Given the description of an element on the screen output the (x, y) to click on. 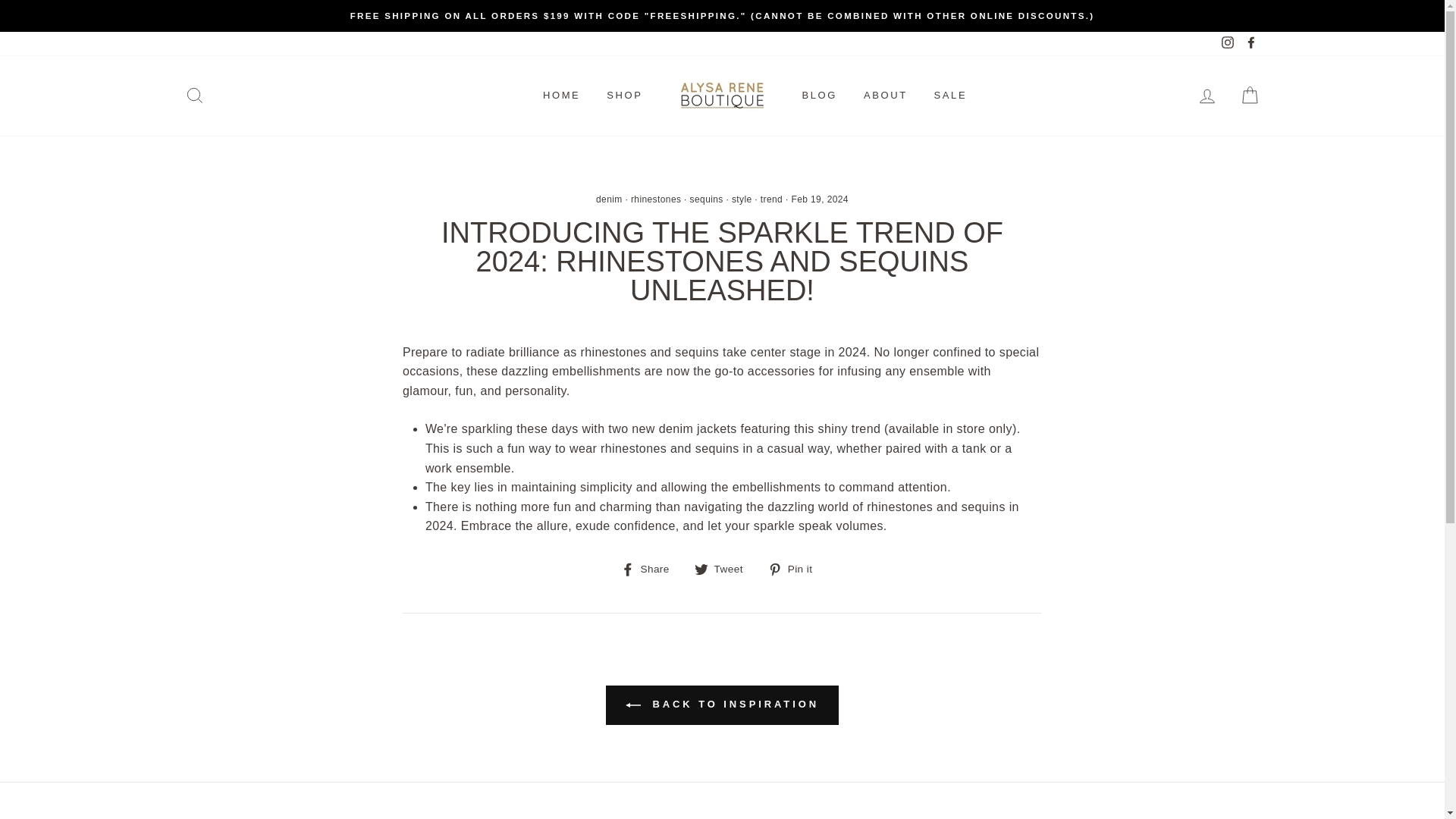
Share on Facebook (651, 568)
Pin on Pinterest (796, 568)
Tweet on Twitter (724, 568)
